Given the description of an element on the screen output the (x, y) to click on. 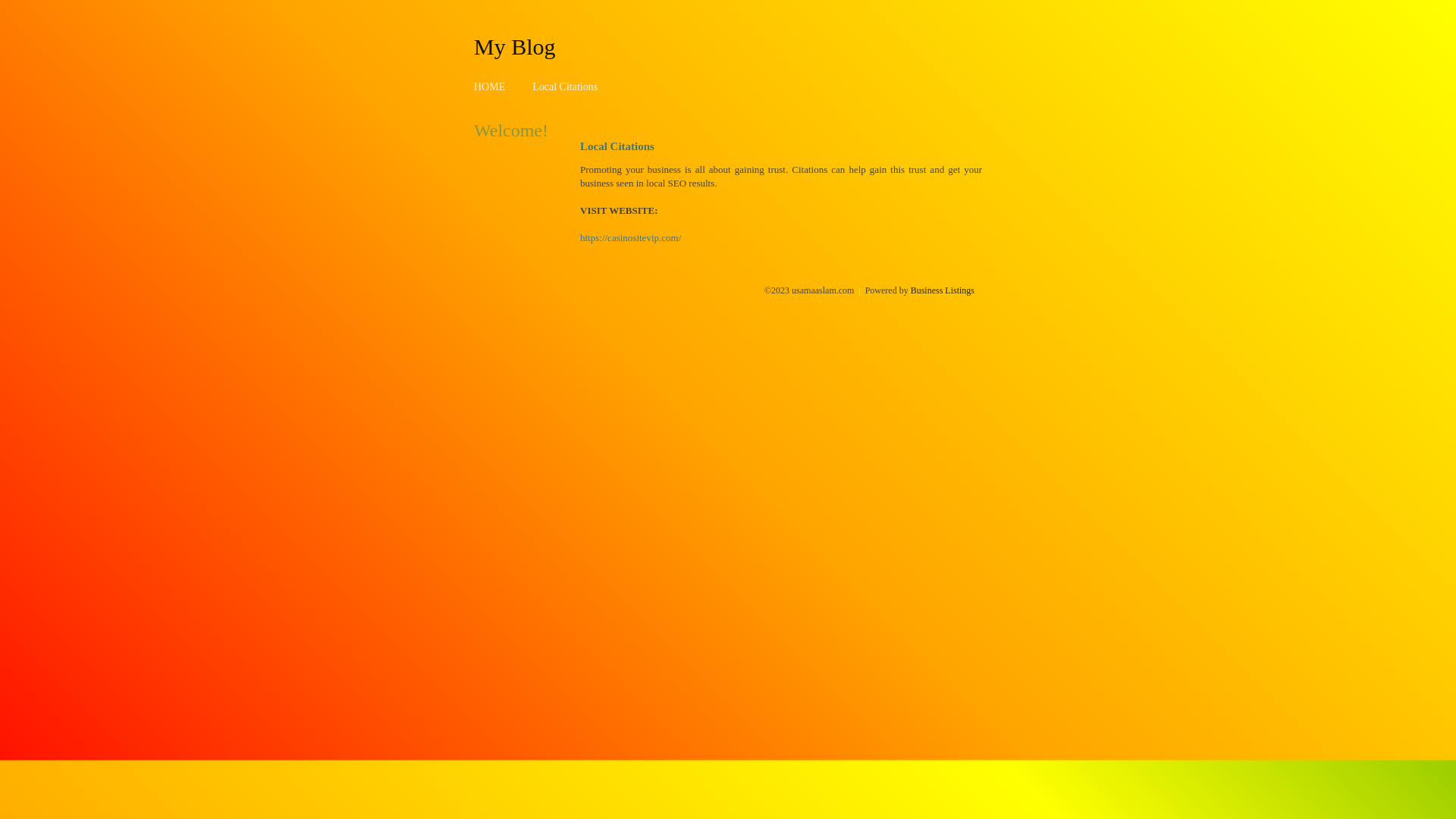
Local Citations Element type: text (564, 86)
Business Listings Element type: text (942, 290)
My Blog Element type: text (514, 46)
HOME Element type: text (489, 86)
https://casinositevip.com/ Element type: text (630, 237)
